Given the description of an element on the screen output the (x, y) to click on. 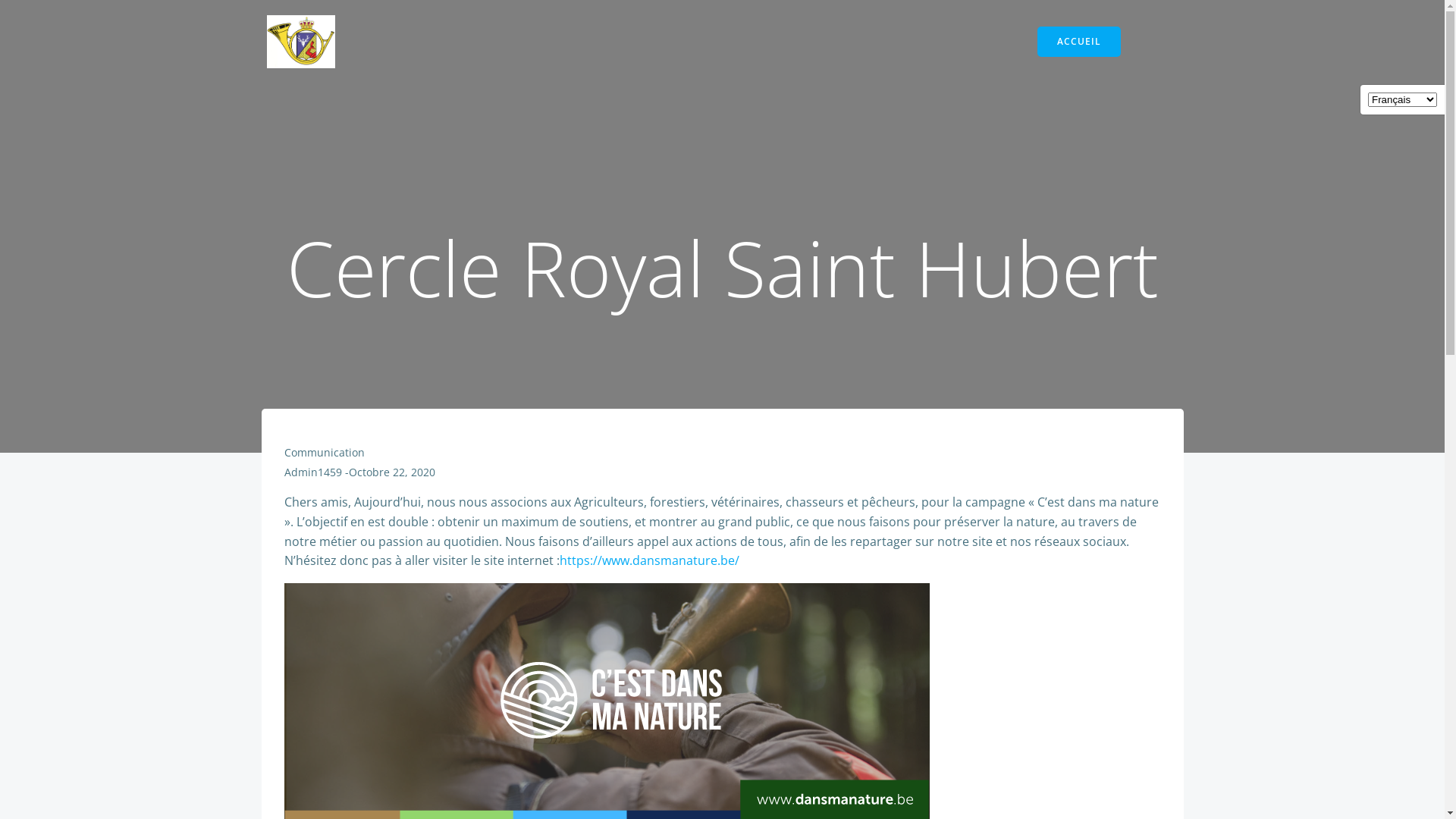
https://www.dansmanature.be/ Element type: text (649, 560)
Octobre 22, 2020 Element type: text (391, 471)
ACCUEIL Element type: text (1078, 41)
Admin1459 Element type: text (312, 471)
Communication Element type: text (323, 452)
